Given the description of an element on the screen output the (x, y) to click on. 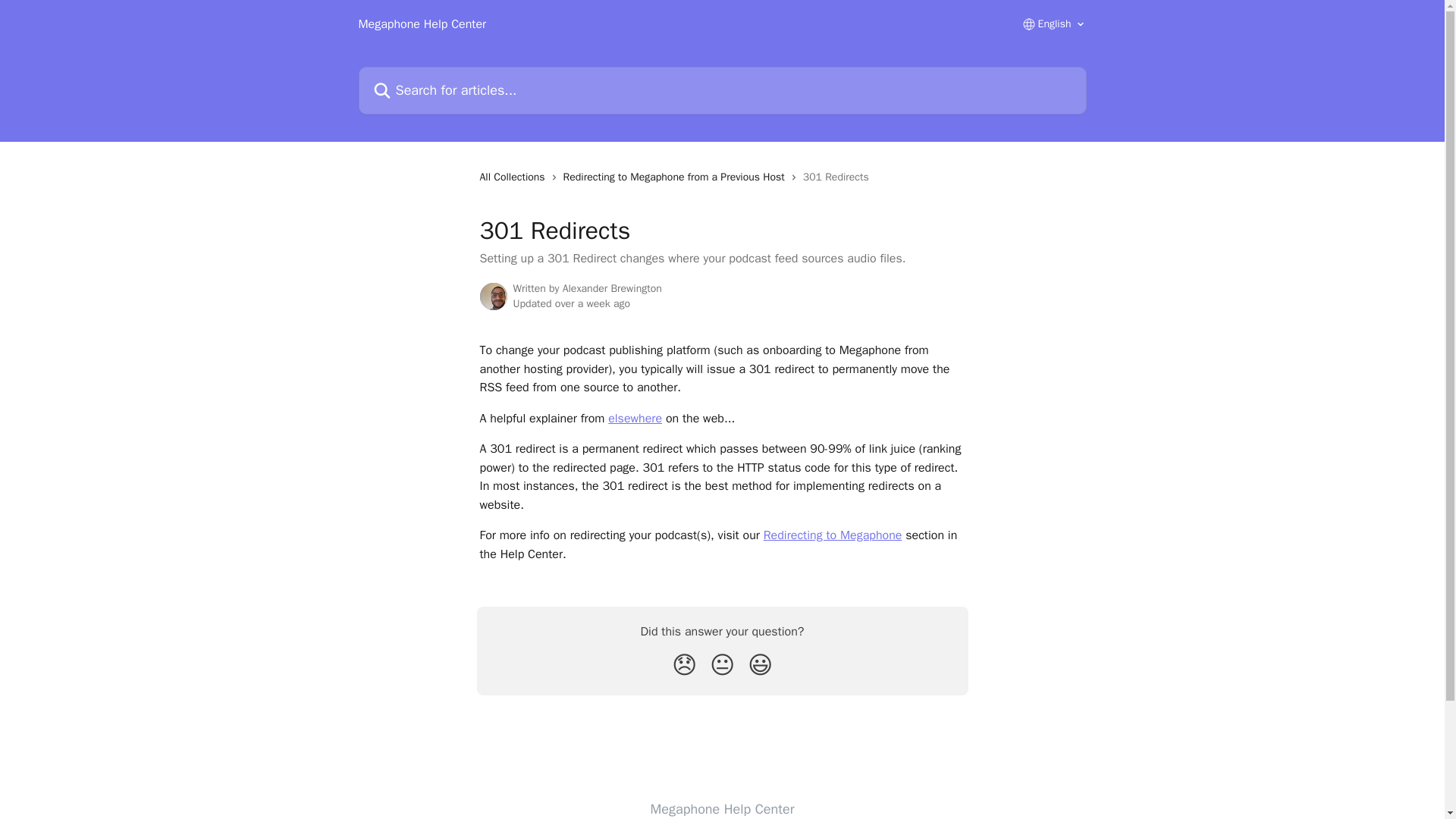
Megaphone Help Center (722, 808)
Redirecting to Megaphone (832, 534)
All Collections (514, 176)
Redirecting to Megaphone from a Previous Host (676, 176)
elsewhere (635, 418)
